Given the description of an element on the screen output the (x, y) to click on. 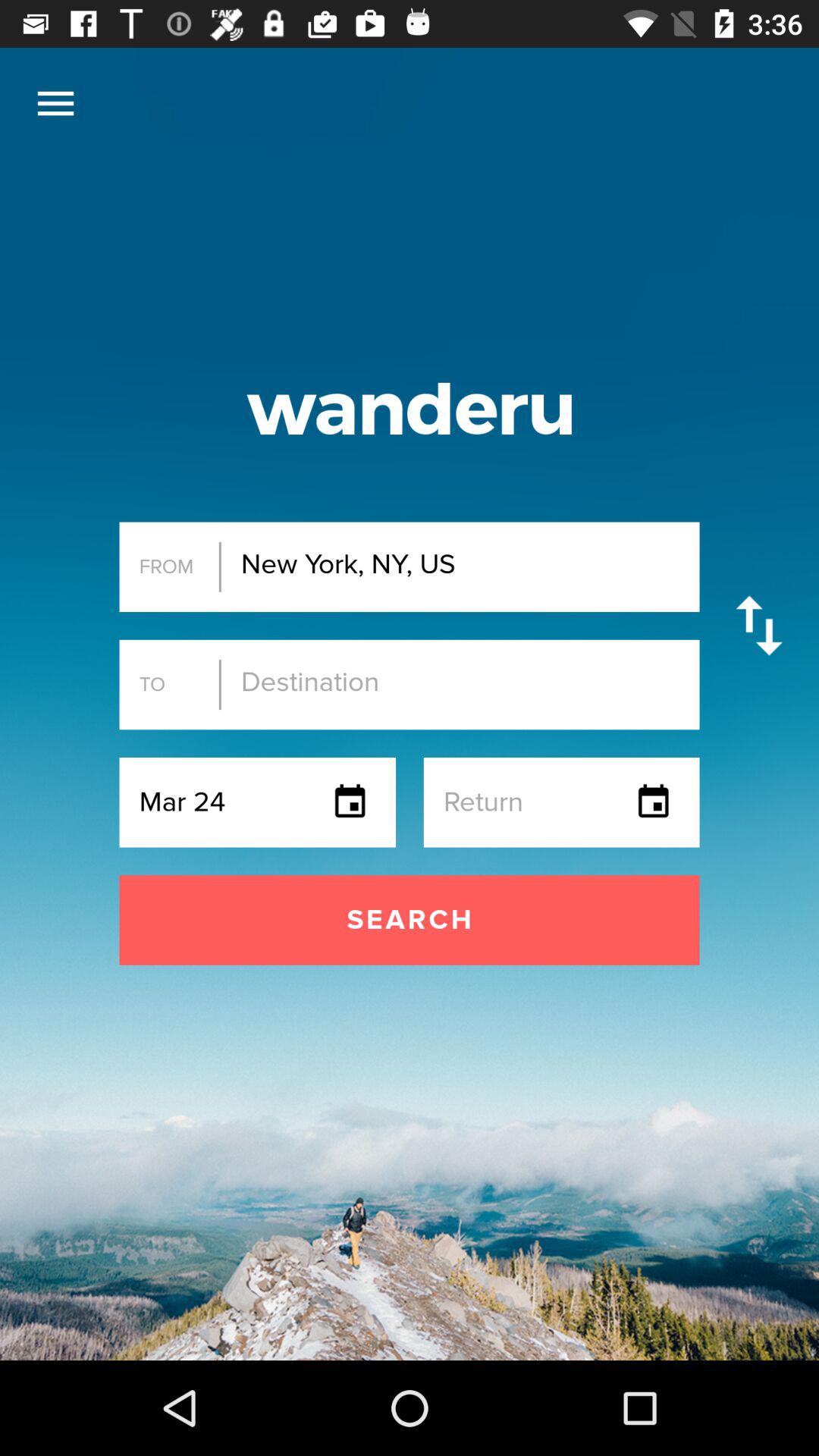
swap from and to (759, 625)
